Given the description of an element on the screen output the (x, y) to click on. 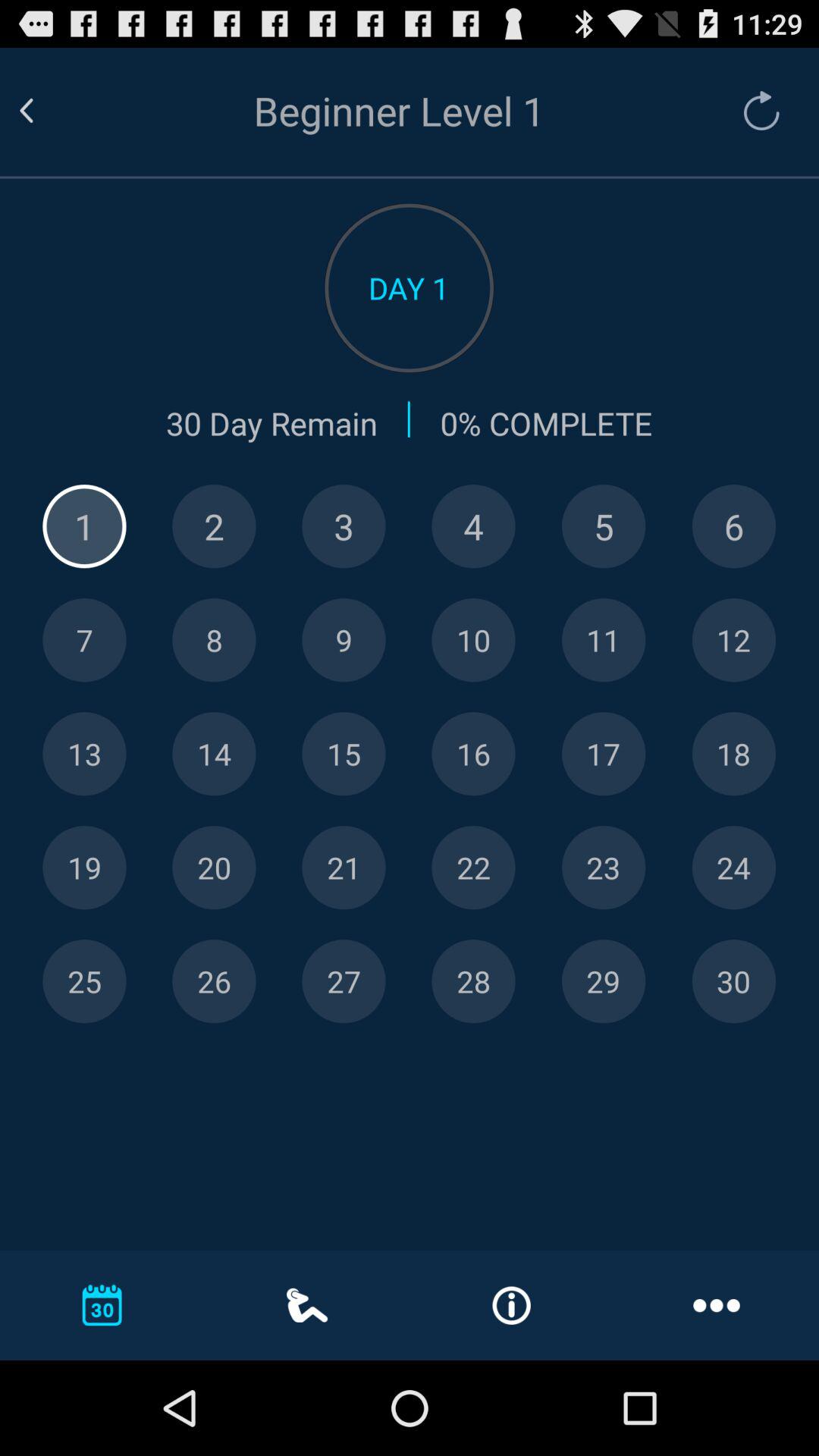
select day 22 (473, 867)
